Given the description of an element on the screen output the (x, y) to click on. 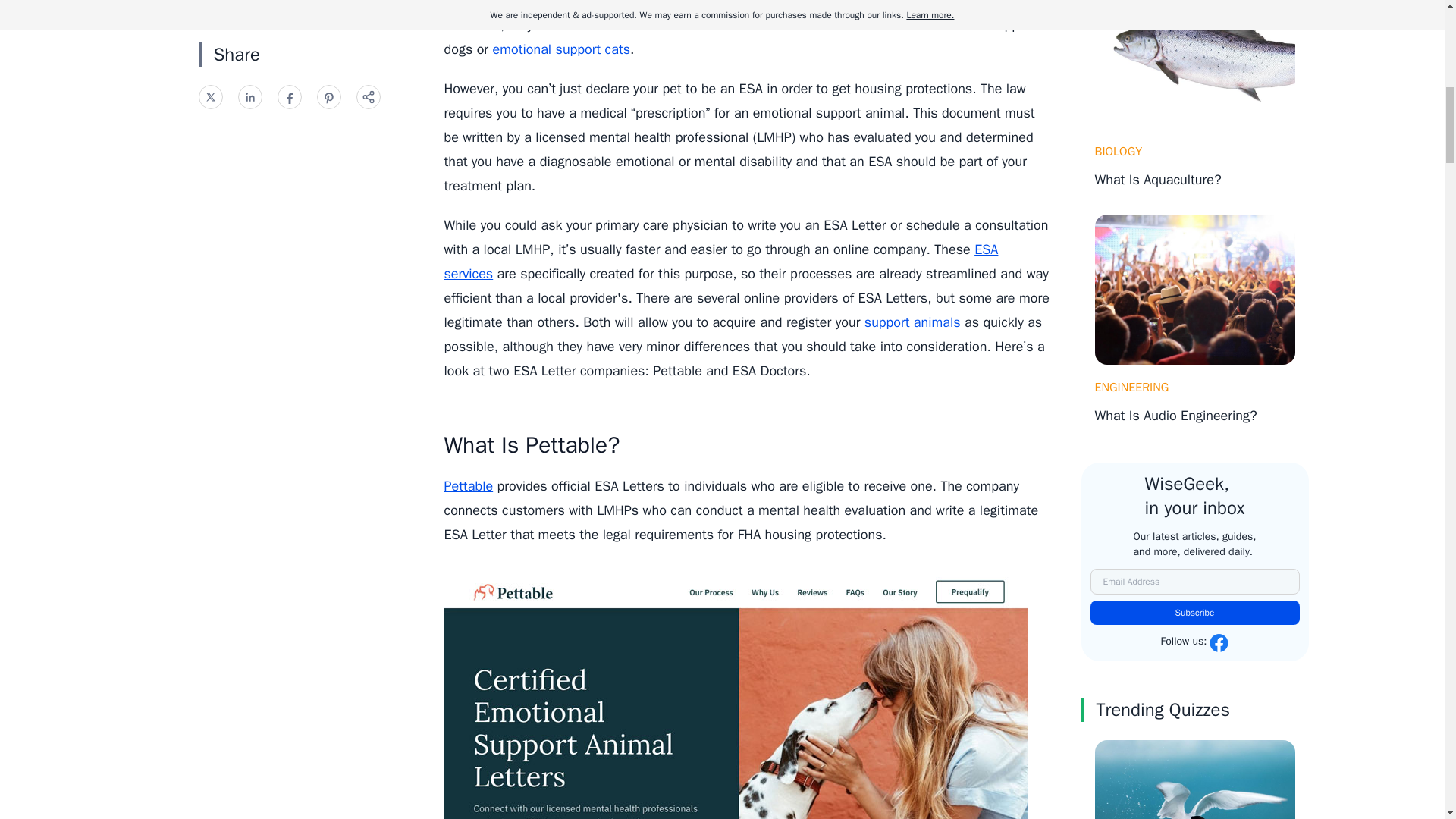
Pettable (468, 485)
ESA services (721, 260)
emotional support cats (561, 48)
support animals (912, 321)
